Given the description of an element on the screen output the (x, y) to click on. 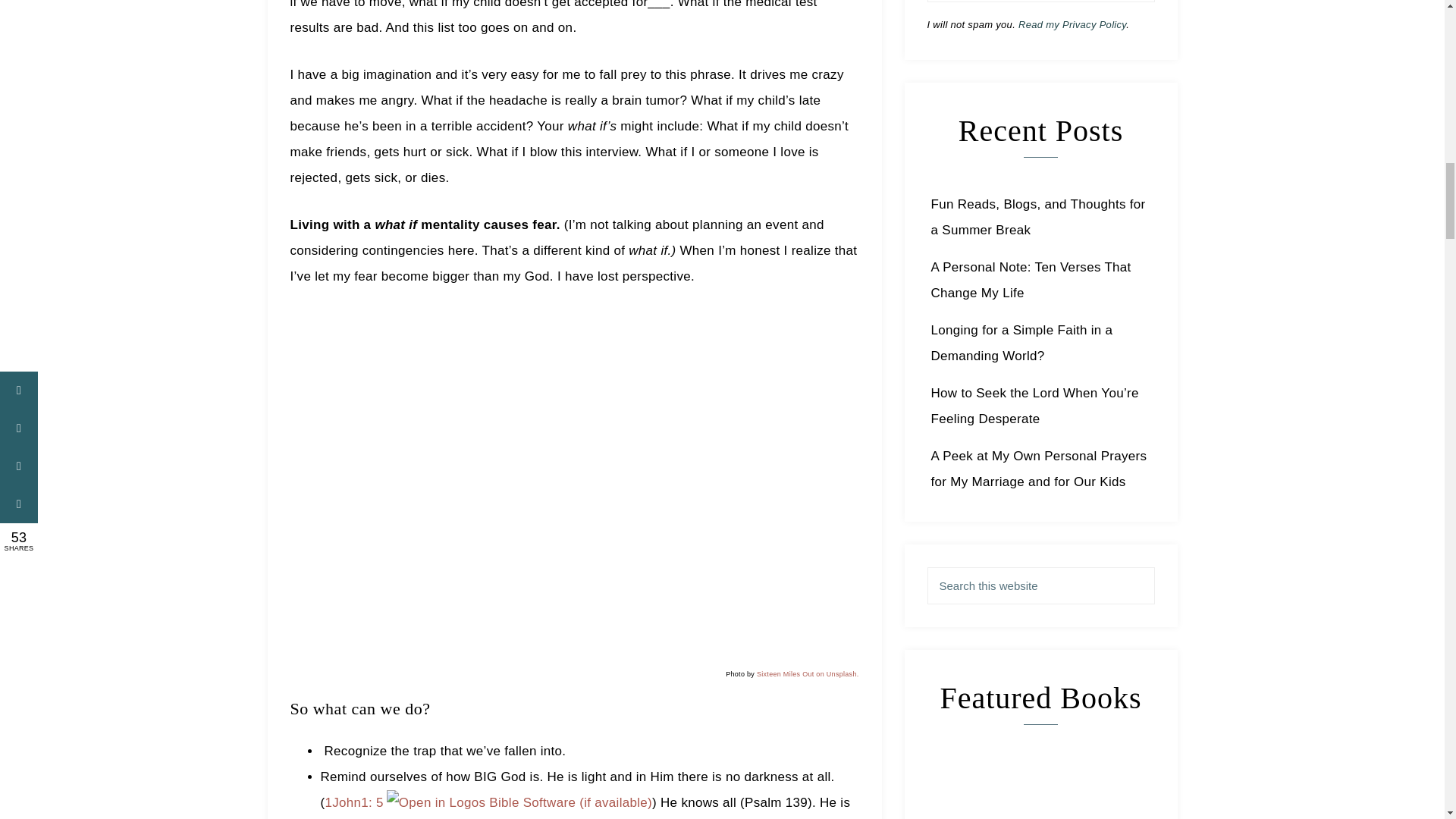
1John1: 5 (353, 802)
Sixteen Miles Out on Unsplash. (808, 674)
